Given the description of an element on the screen output the (x, y) to click on. 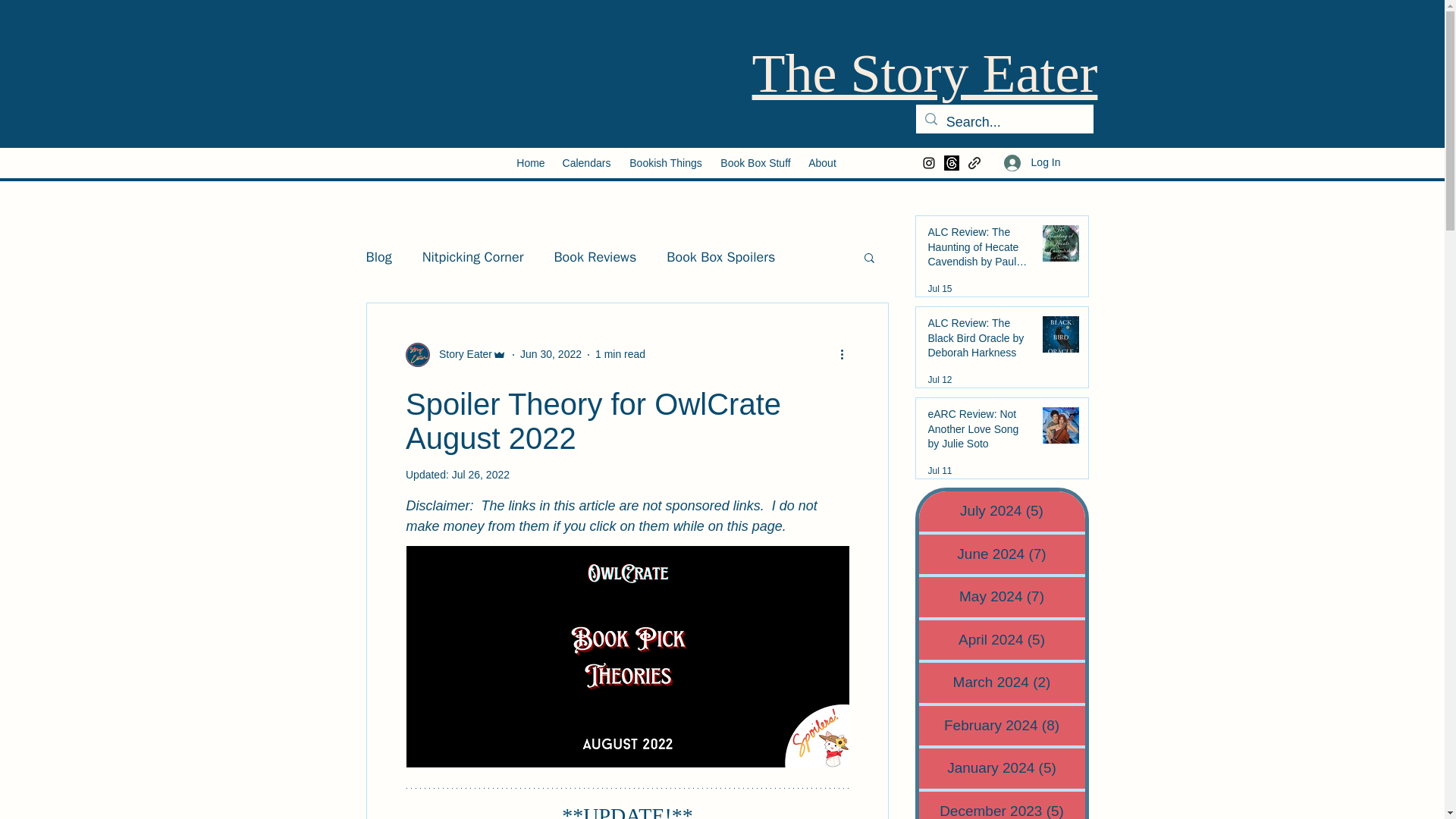
Calendars (586, 162)
Jul 15 (940, 288)
Book Reviews (594, 257)
ALC Review: The Black Bird Oracle by Deborah Harkness (979, 341)
Book Box Stuff (755, 162)
Jul 26, 2022 (480, 474)
Story Eater (460, 354)
eARC Review: Not Another Love Song by Julie Soto (979, 432)
Blog (378, 257)
Nitpicking Corner (473, 257)
Log In (1031, 162)
Jun 30, 2022 (549, 354)
1 min read (620, 354)
The Story Eater (924, 73)
Jul 12 (940, 379)
